Given the description of an element on the screen output the (x, y) to click on. 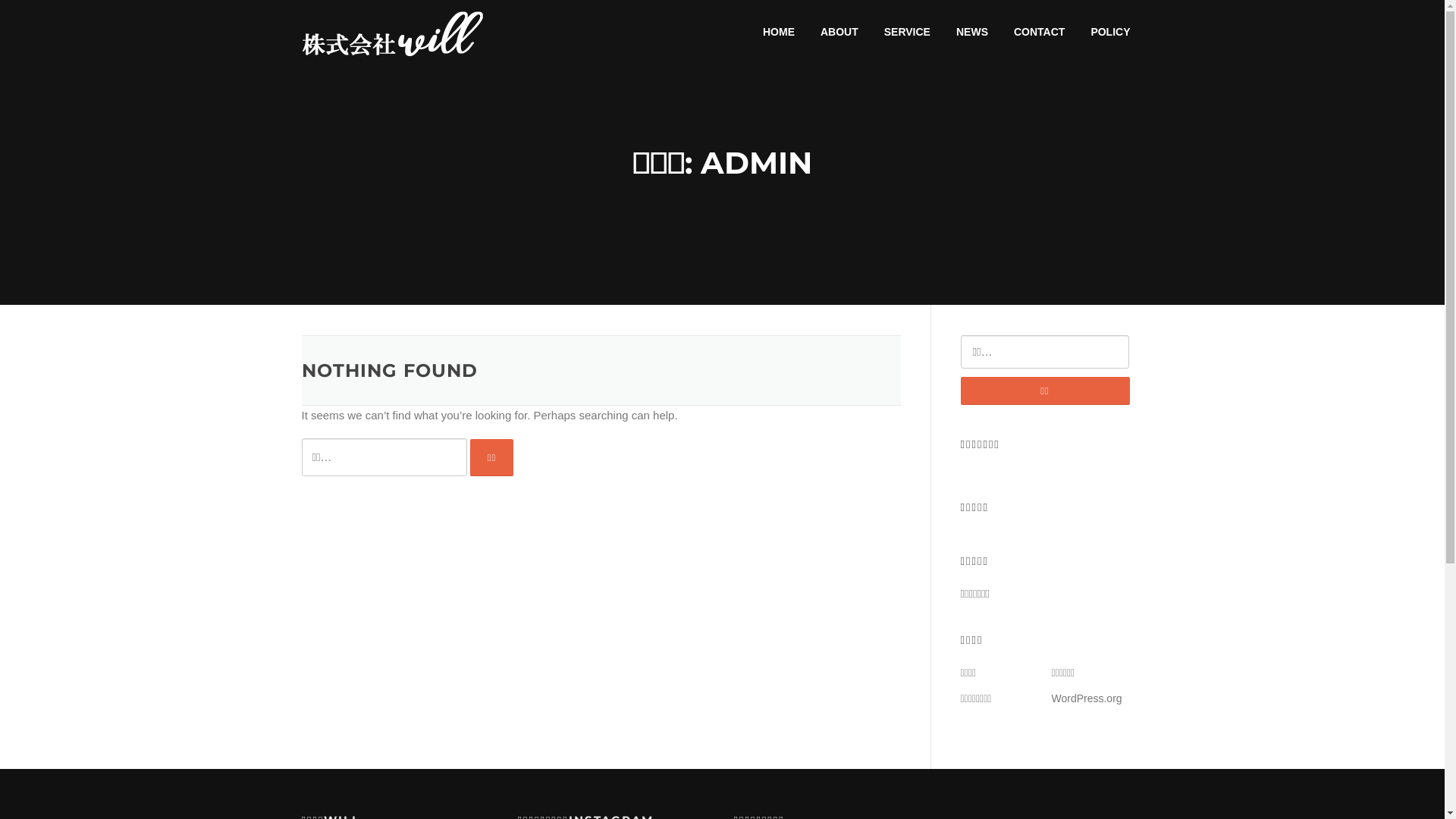
HOME Element type: text (778, 32)
SERVICE Element type: text (907, 32)
ABOUT Element type: text (839, 32)
POLICY Element type: text (1109, 32)
CONTACT Element type: text (1039, 32)
NEWS Element type: text (972, 32)
WordPress.org Element type: text (1086, 698)
